Given the description of an element on the screen output the (x, y) to click on. 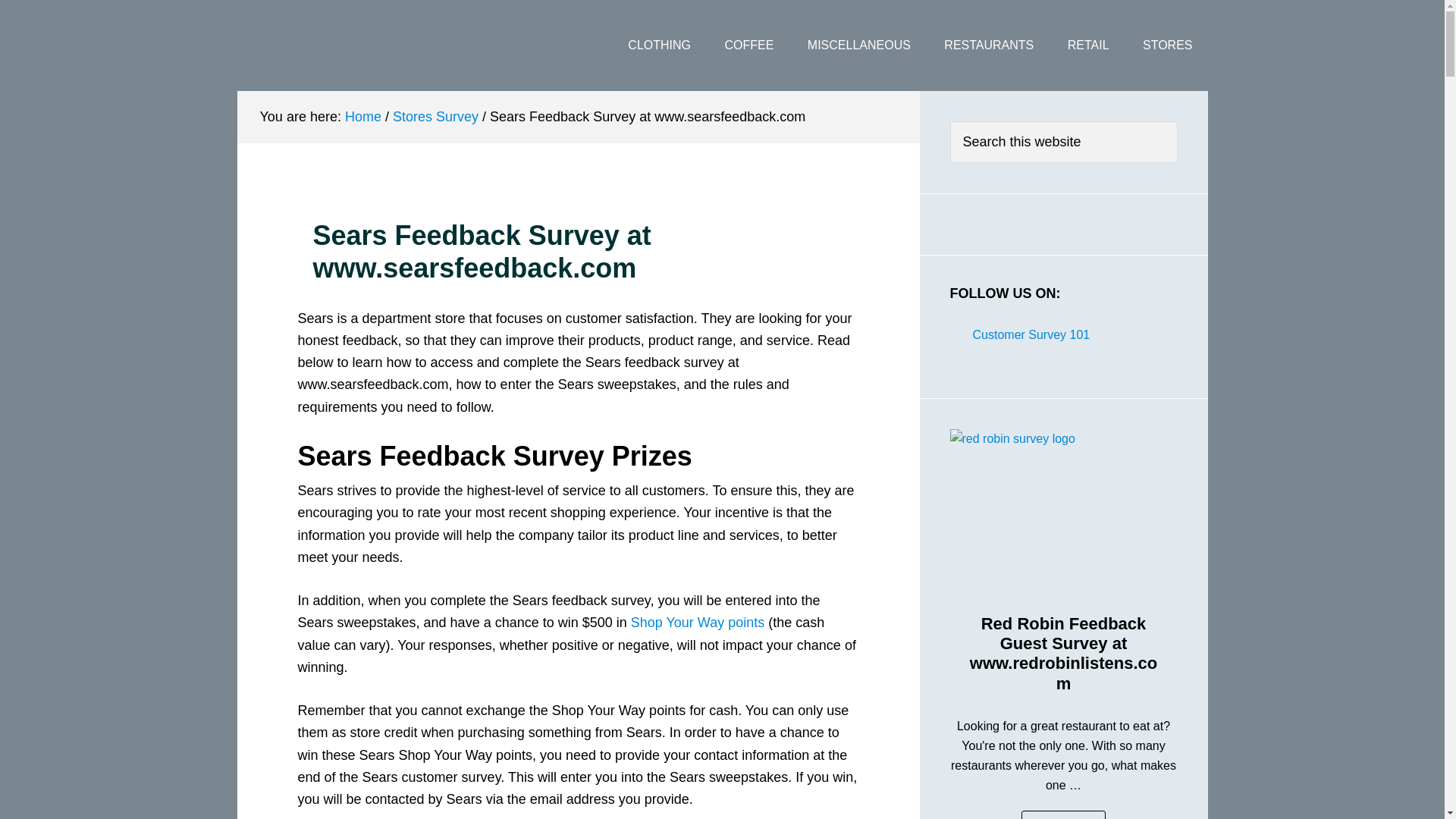
MISCELLANEOUS (859, 45)
Shop Your Way points (697, 622)
Stores Survey (436, 116)
CLOTHING (659, 45)
Customer Survey 101 (357, 45)
Home (363, 116)
RESTAURANTS (988, 45)
